Given the description of an element on the screen output the (x, y) to click on. 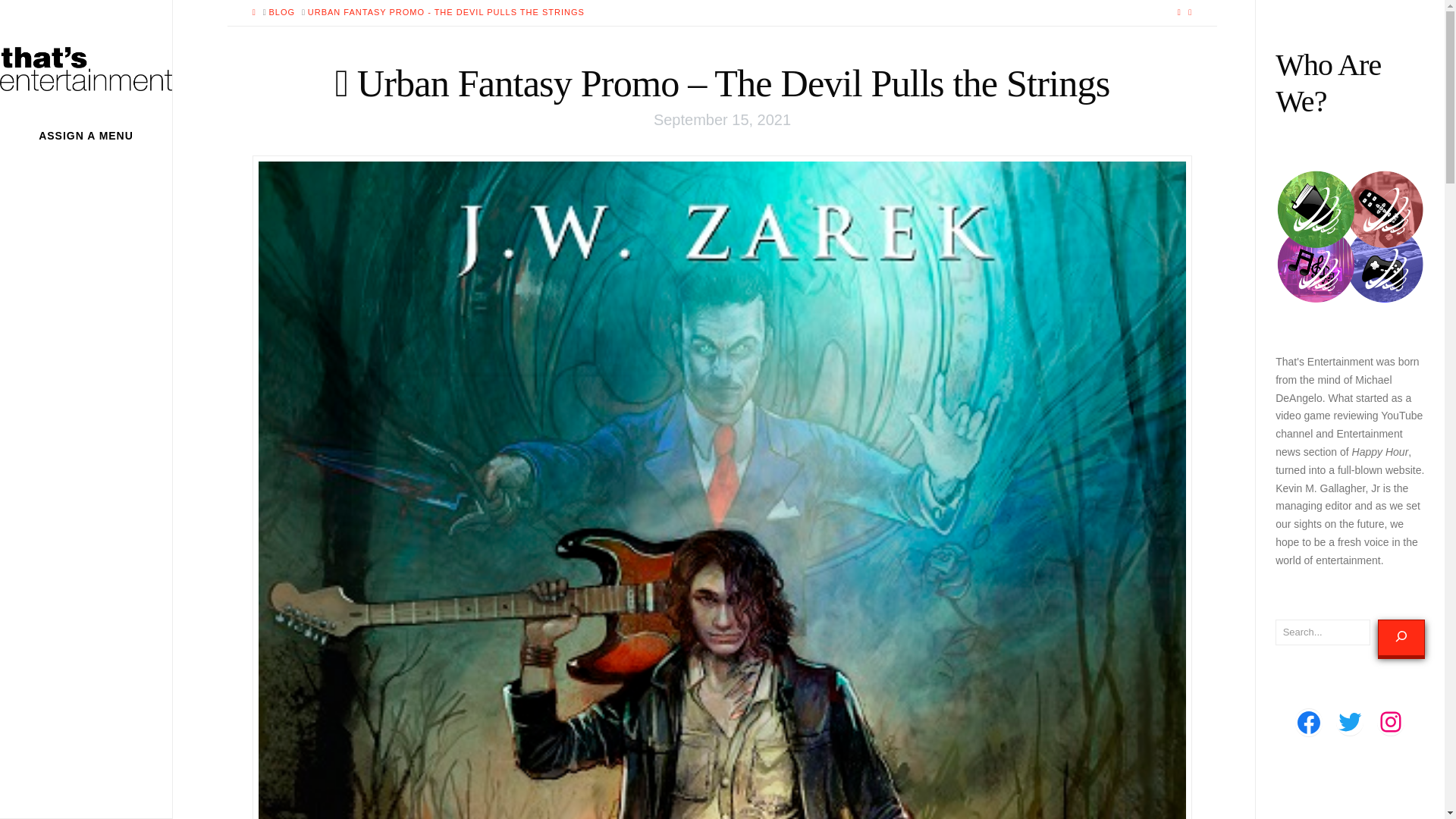
ASSIGN A MENU (85, 135)
URBAN FANTASY PROMO - THE DEVIL PULLS THE STRINGS (446, 12)
FACEBOOK (1308, 722)
TWITTER (1349, 721)
INSTAGRAM (1391, 721)
BLOG (281, 12)
You Are Here (446, 12)
